Given the description of an element on the screen output the (x, y) to click on. 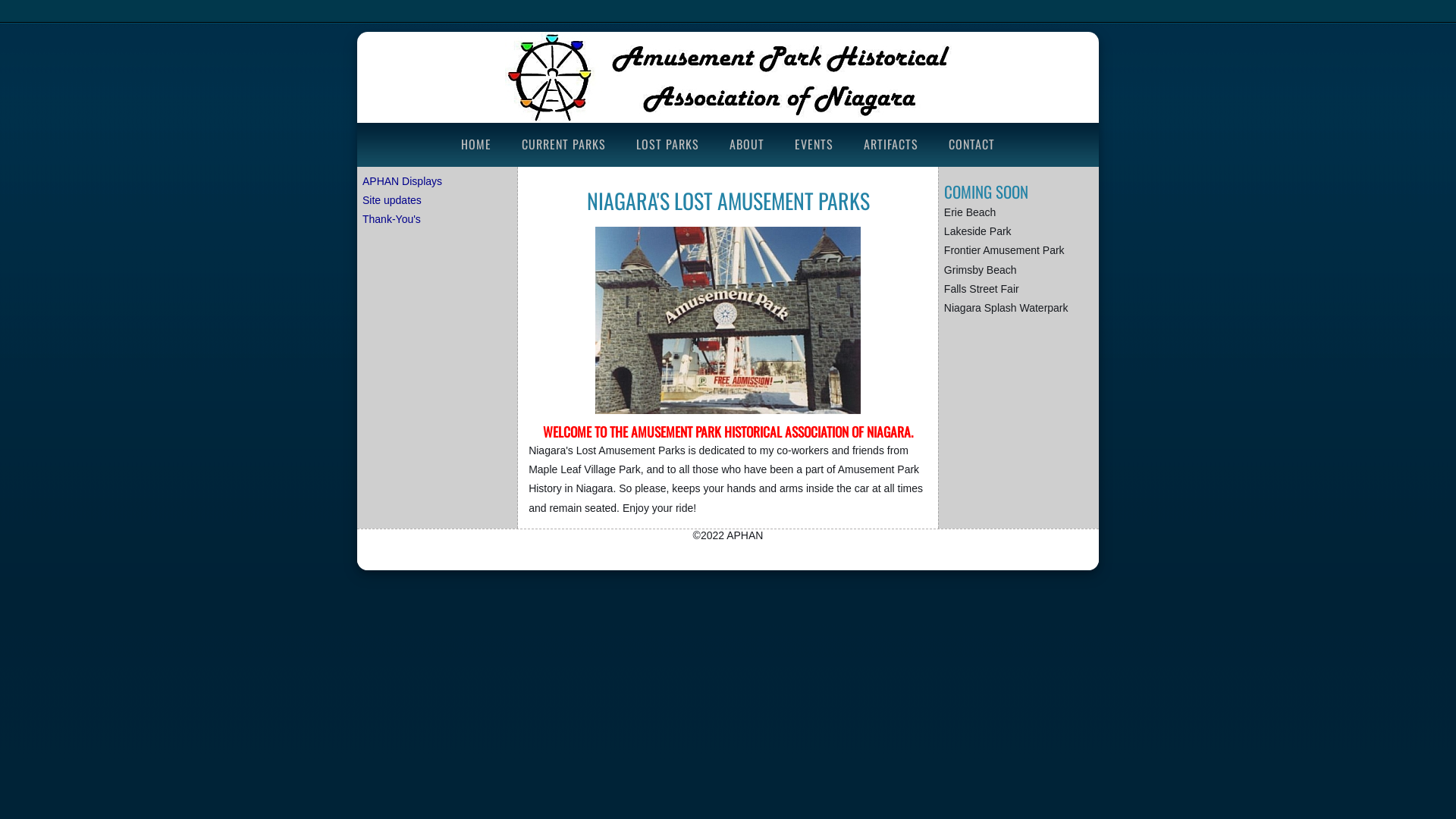
EVENTS Element type: text (813, 143)
Thank-You's Element type: text (391, 219)
CONTACT Element type: text (971, 143)
HOME Element type: text (475, 143)
ABOUT Element type: text (746, 143)
LOST PARKS Element type: text (667, 143)
APHAN Displays Element type: text (402, 181)
CURRENT PARKS Element type: text (563, 143)
Site updates Element type: text (391, 200)
ARTIFACTS Element type: text (890, 143)
